Given the description of an element on the screen output the (x, y) to click on. 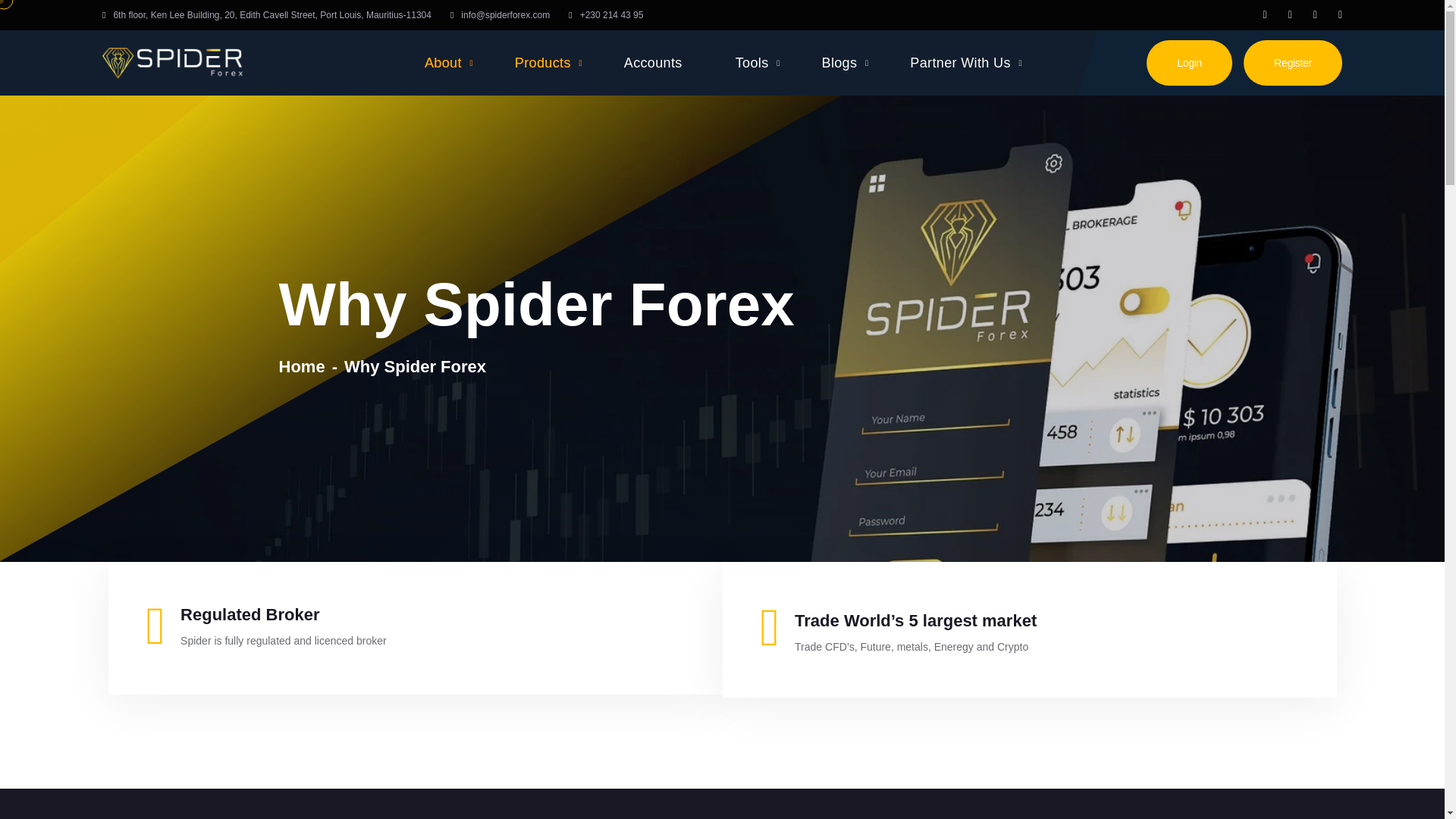
Register (1292, 62)
Products (548, 62)
Tools (757, 62)
Accounts (659, 62)
About (449, 62)
Login (1189, 62)
Blogs (845, 62)
Partner With Us (966, 62)
